Given the description of an element on the screen output the (x, y) to click on. 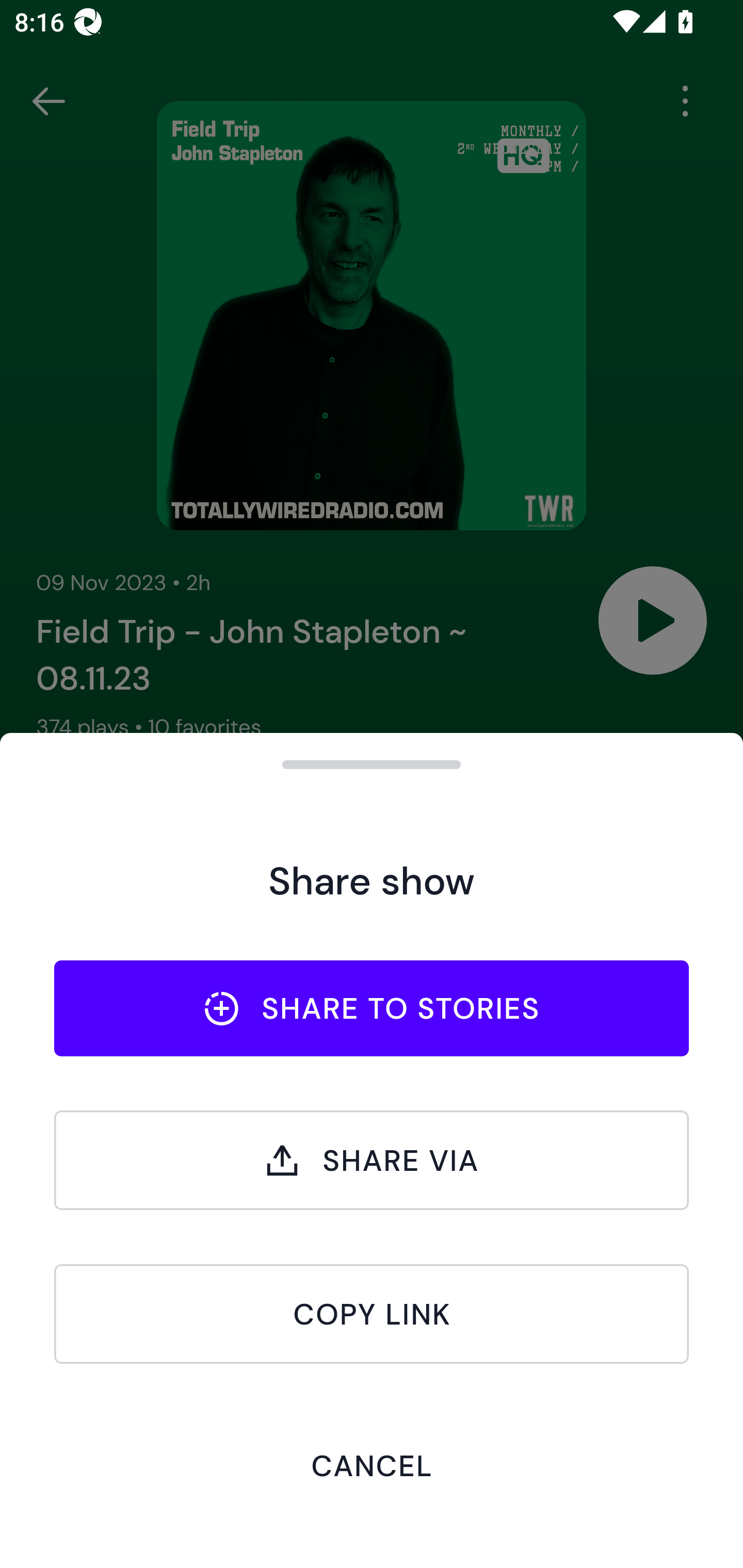
Share to stories SHARE TO STORIES (371, 1007)
Share VIA SHARE VIA (371, 1160)
Copy link COPY LINK (371, 1313)
Cancel CANCEL (371, 1465)
